Given the description of an element on the screen output the (x, y) to click on. 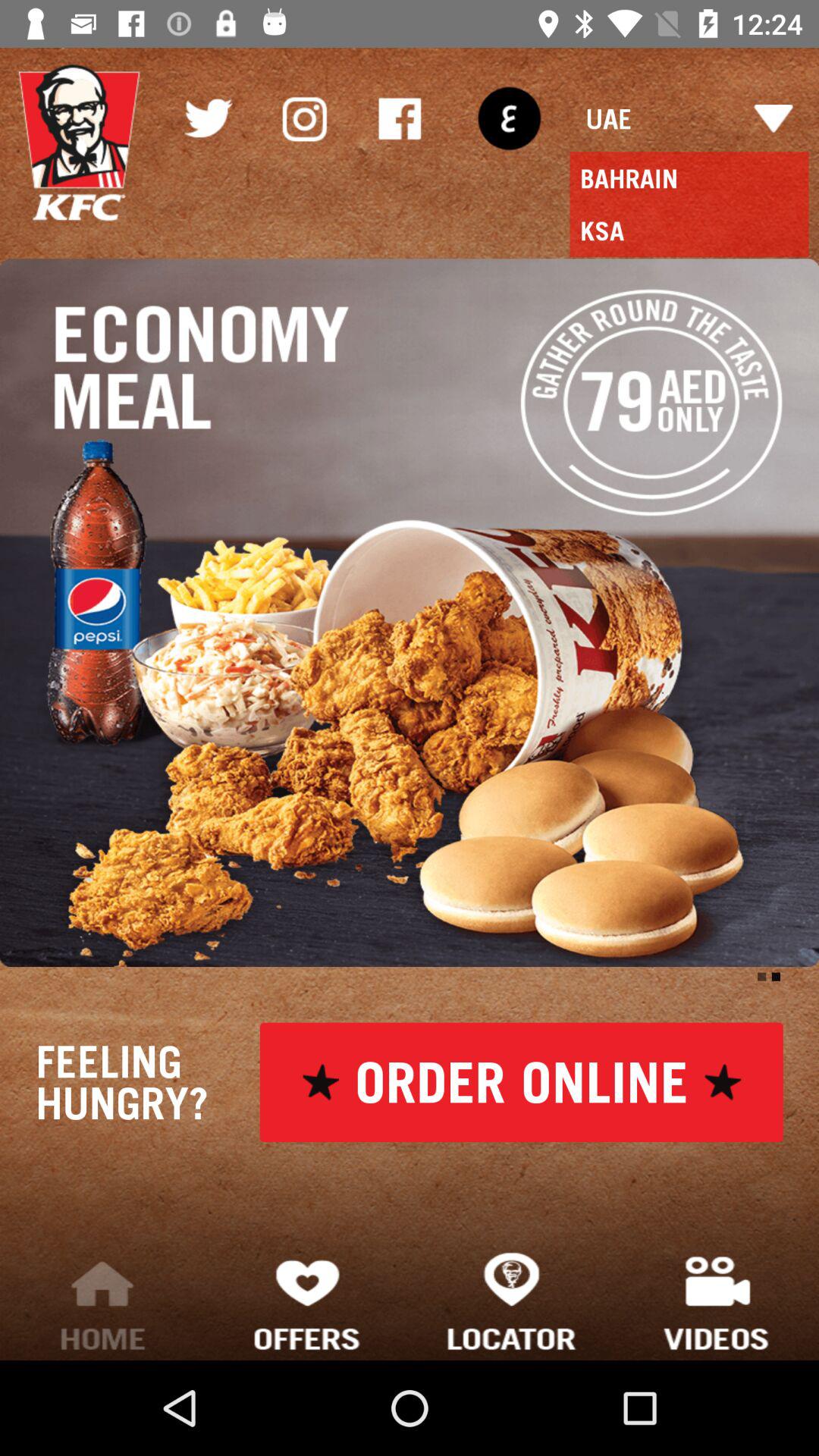
flip until uae item (688, 118)
